Given the description of an element on the screen output the (x, y) to click on. 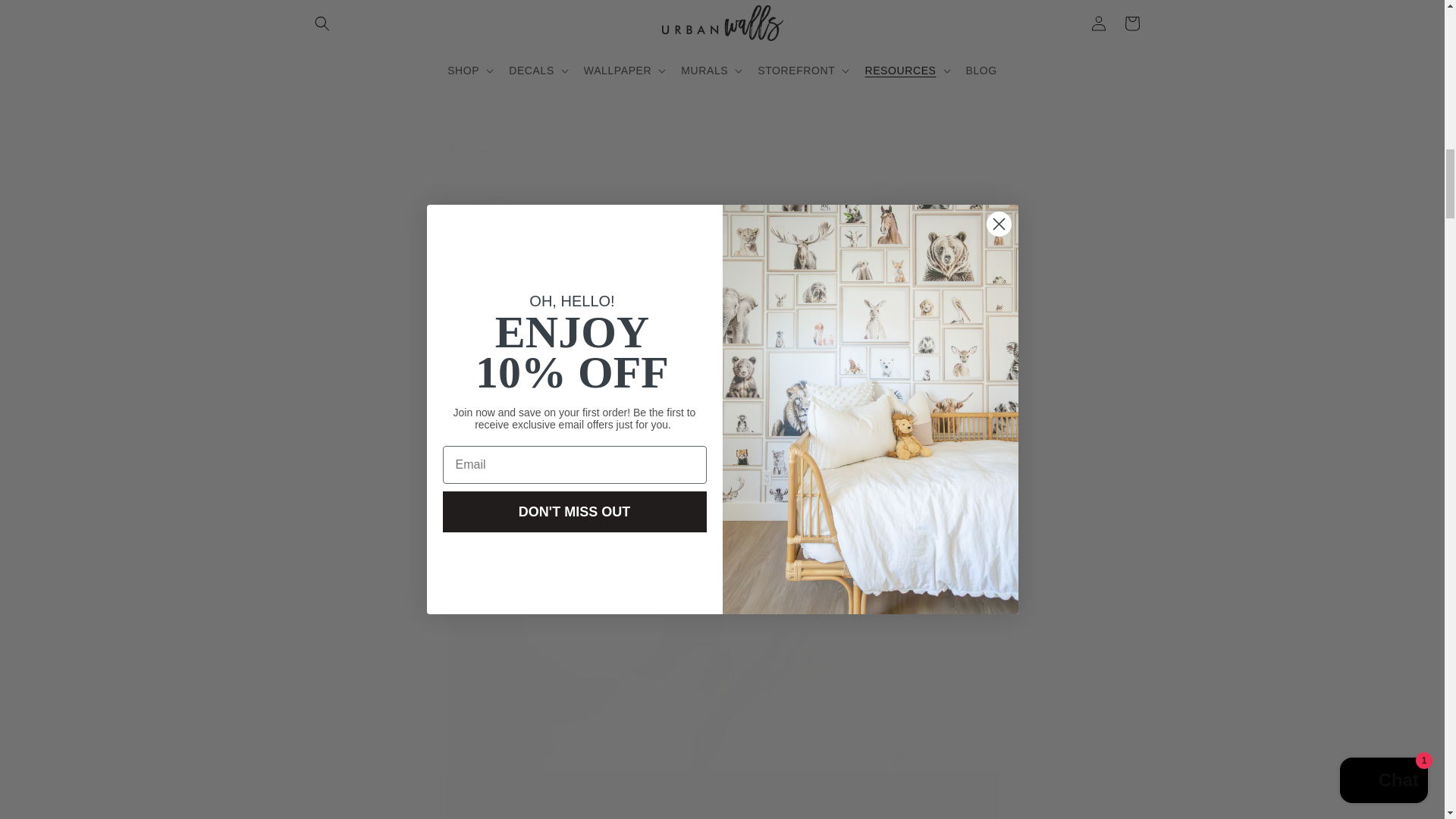
Share (721, 151)
